Given the description of an element on the screen output the (x, y) to click on. 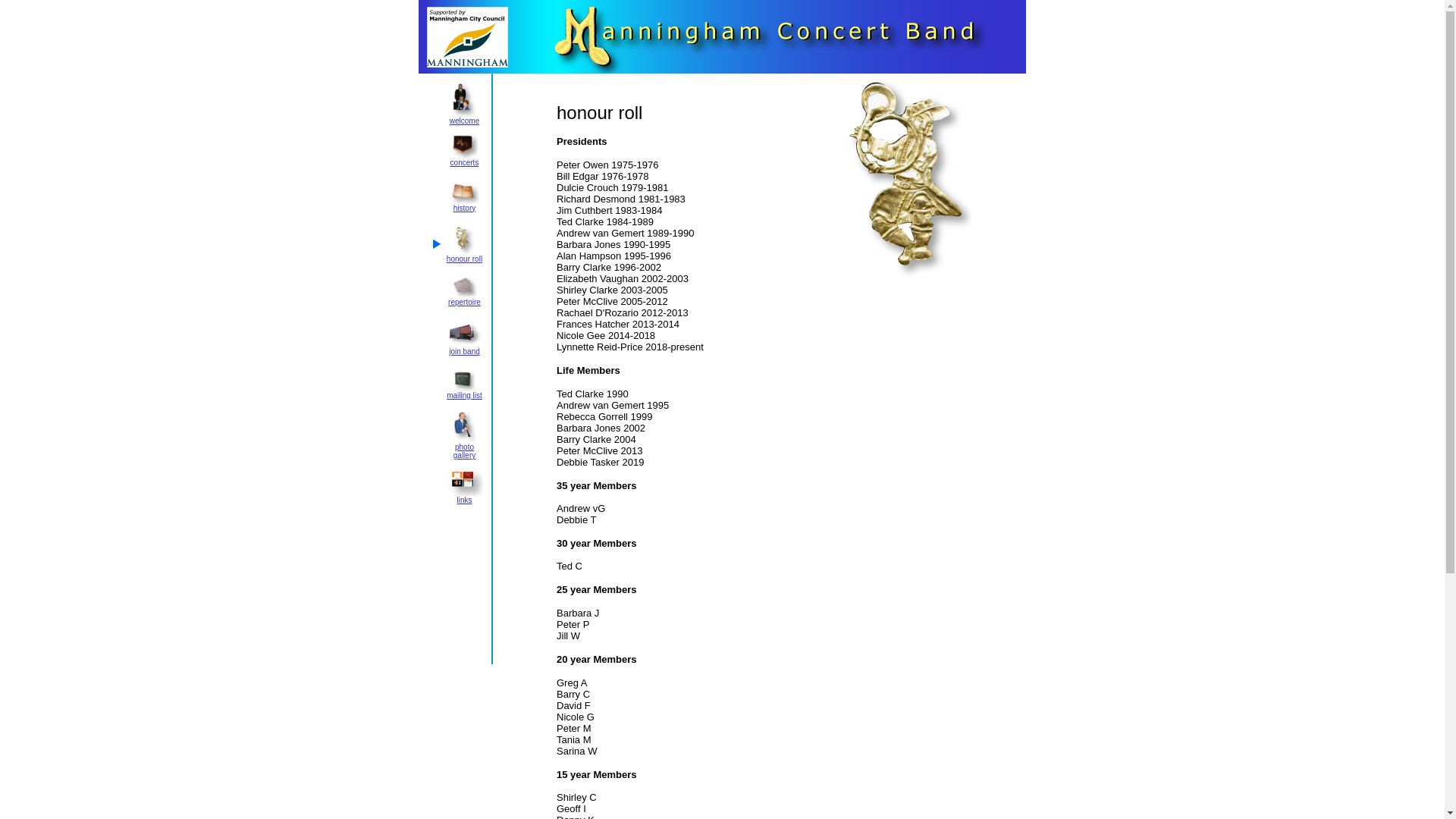
About the band Element type: hover (463, 98)
Band presidents and life members Element type: hover (464, 239)
concerts Element type: text (464, 158)
A horn-player's badge of honour Element type: hover (908, 177)
links Element type: text (464, 495)
How the band formed, past and present conductors Element type: hover (464, 192)
How to contact us Element type: hover (464, 380)
history Element type: text (464, 204)
Images from recent performances Element type: hover (463, 426)
join band Element type: text (464, 346)
Websites of interest Element type: hover (464, 480)
honour roll Element type: text (464, 255)
Hear us play at an upcoming concert Element type: hover (464, 145)
welcome Element type: text (464, 116)
Information for new members Element type: hover (464, 334)
Music we have played Element type: hover (463, 287)
photo gallery Element type: text (463, 447)
repertoire Element type: text (464, 298)
mailing list Element type: text (464, 391)
